Given the description of an element on the screen output the (x, y) to click on. 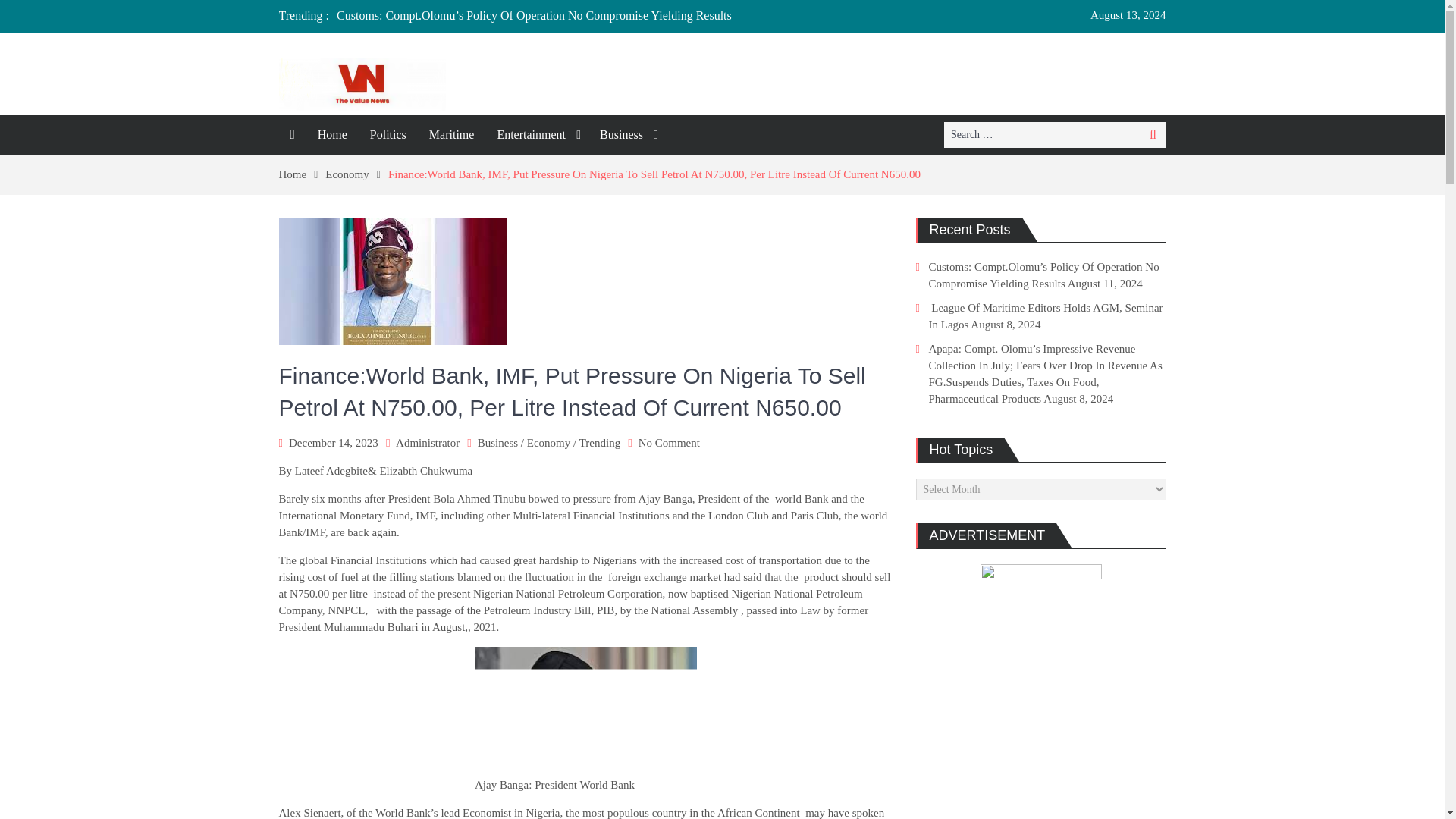
Search (1153, 135)
Business (626, 134)
Economy (548, 442)
Home (331, 134)
Maritime (451, 134)
December 14, 2023 (333, 442)
Economy (356, 174)
Trending (599, 442)
Administrator (428, 442)
Politics (387, 134)
